Given the description of an element on the screen output the (x, y) to click on. 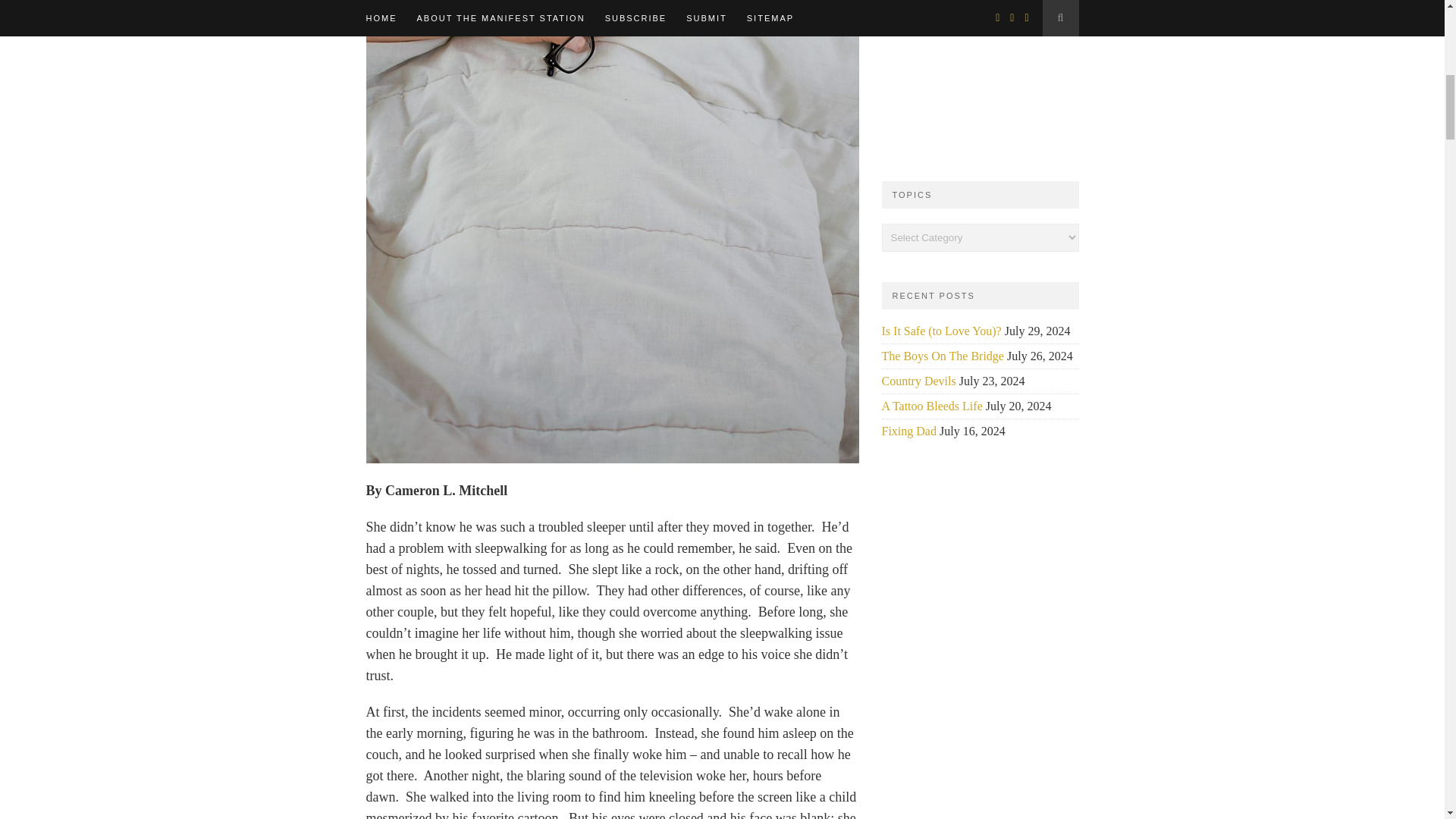
The Boys On The Bridge (941, 355)
A Tattoo Bleeds Life (930, 405)
Fixing Dad (908, 431)
Country Devils (917, 380)
